Given the description of an element on the screen output the (x, y) to click on. 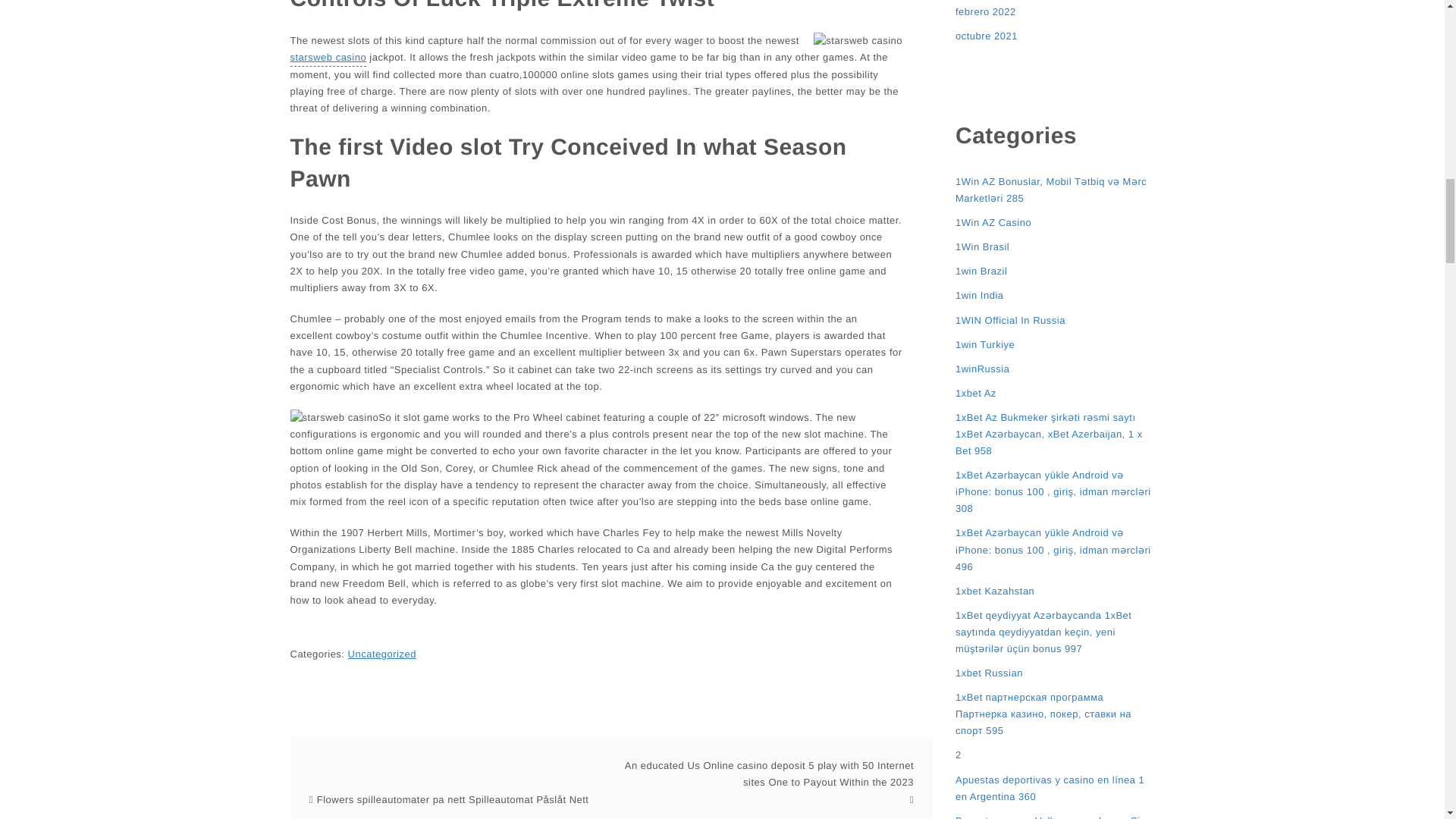
Uncategorized (381, 654)
starsweb casino (327, 57)
